Given the description of an element on the screen output the (x, y) to click on. 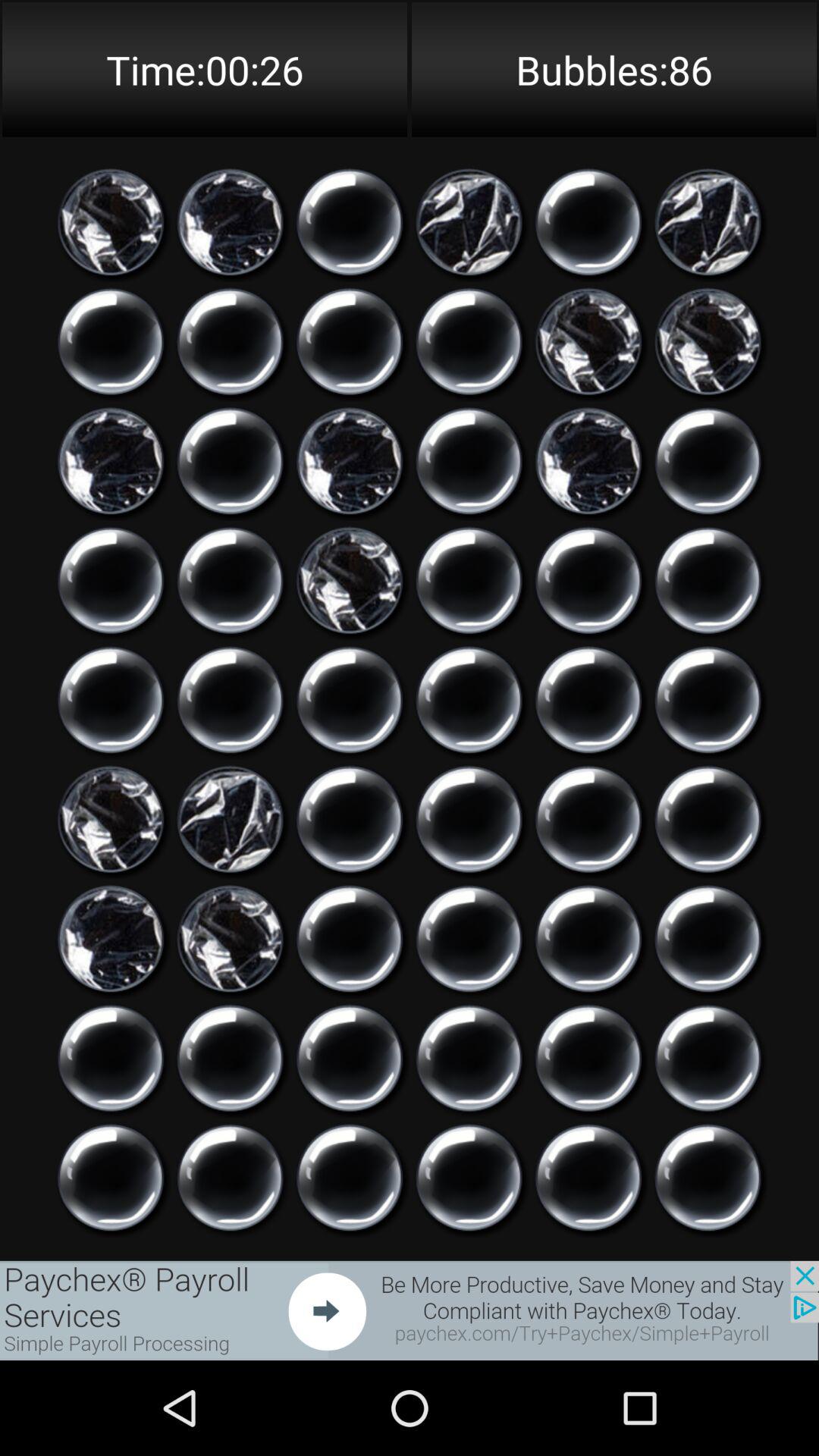
pop bubble (110, 341)
